Given the description of an element on the screen output the (x, y) to click on. 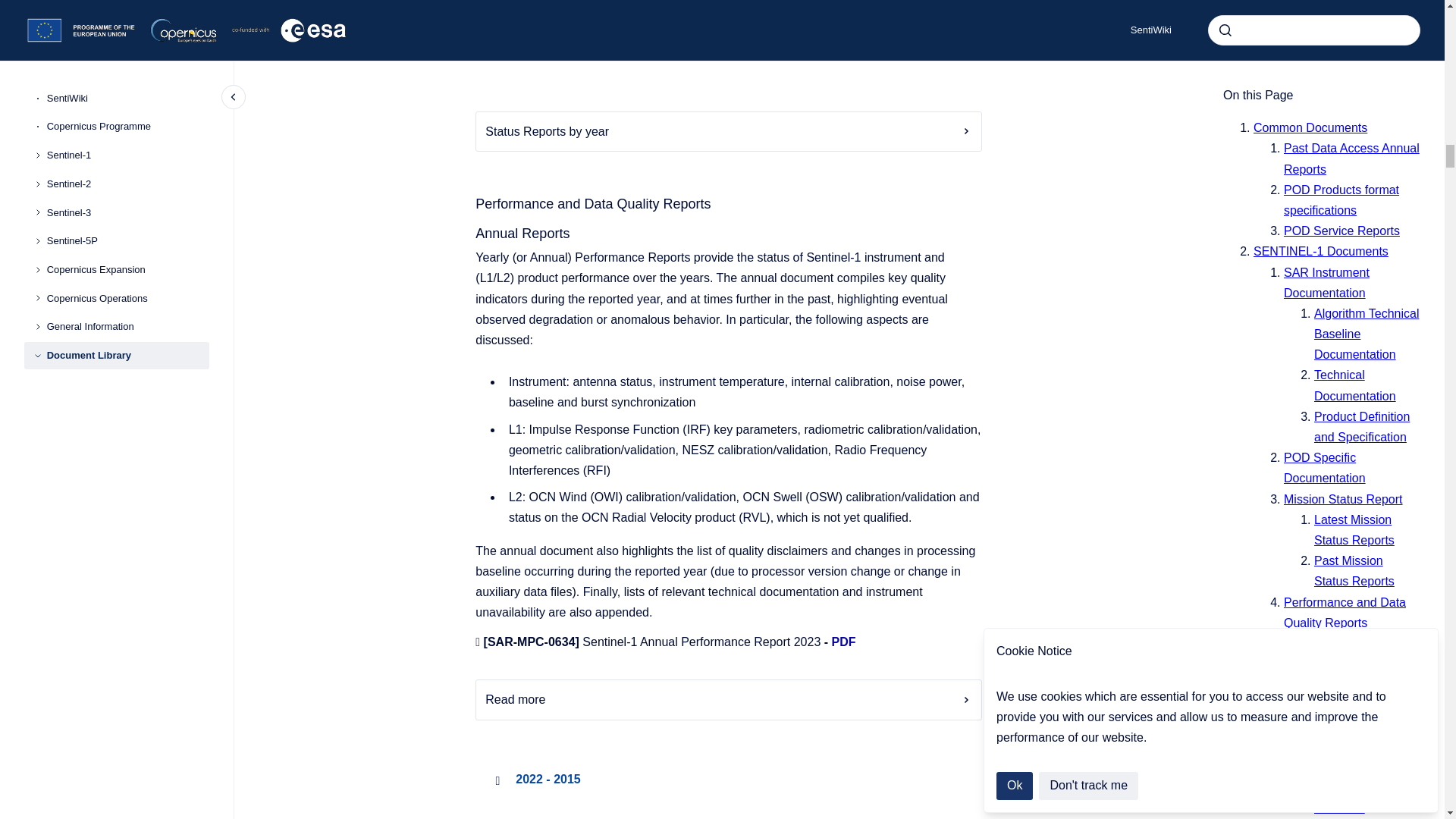
Copy to clipboard (468, 2)
